Given the description of an element on the screen output the (x, y) to click on. 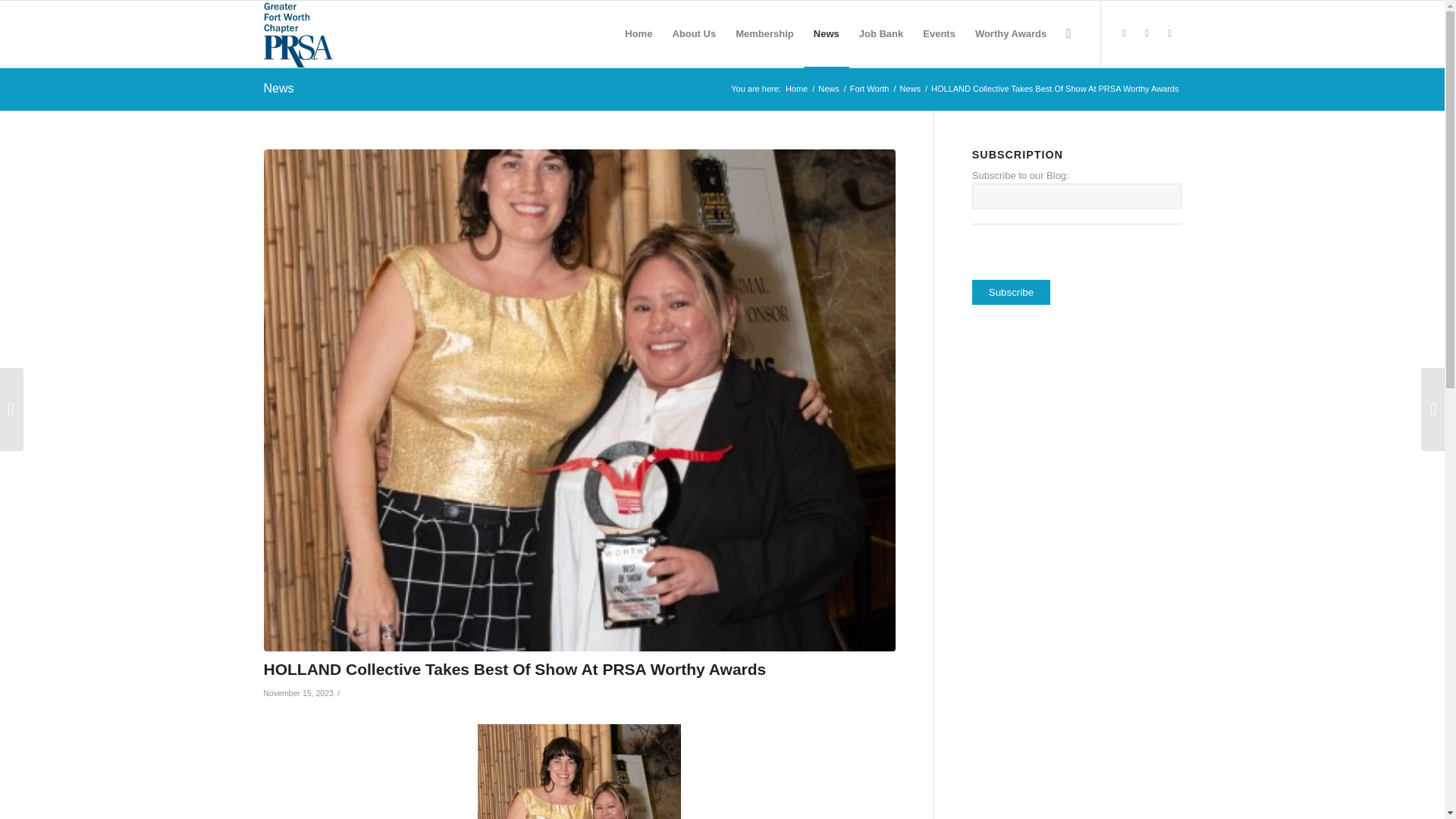
Subscribe (1010, 292)
News (828, 89)
News (828, 89)
HOLLAND Collective Takes Best Of Show At PRSA Worthy Awards (515, 669)
Worthy Awards (1011, 33)
Fort Worth PRSA (796, 89)
Facebook (1124, 33)
Job Bank (881, 33)
Twitter (1146, 33)
News (278, 88)
LinkedIn (1169, 33)
Membership (764, 33)
Permanent Link: News (278, 88)
News (910, 89)
